Given the description of an element on the screen output the (x, y) to click on. 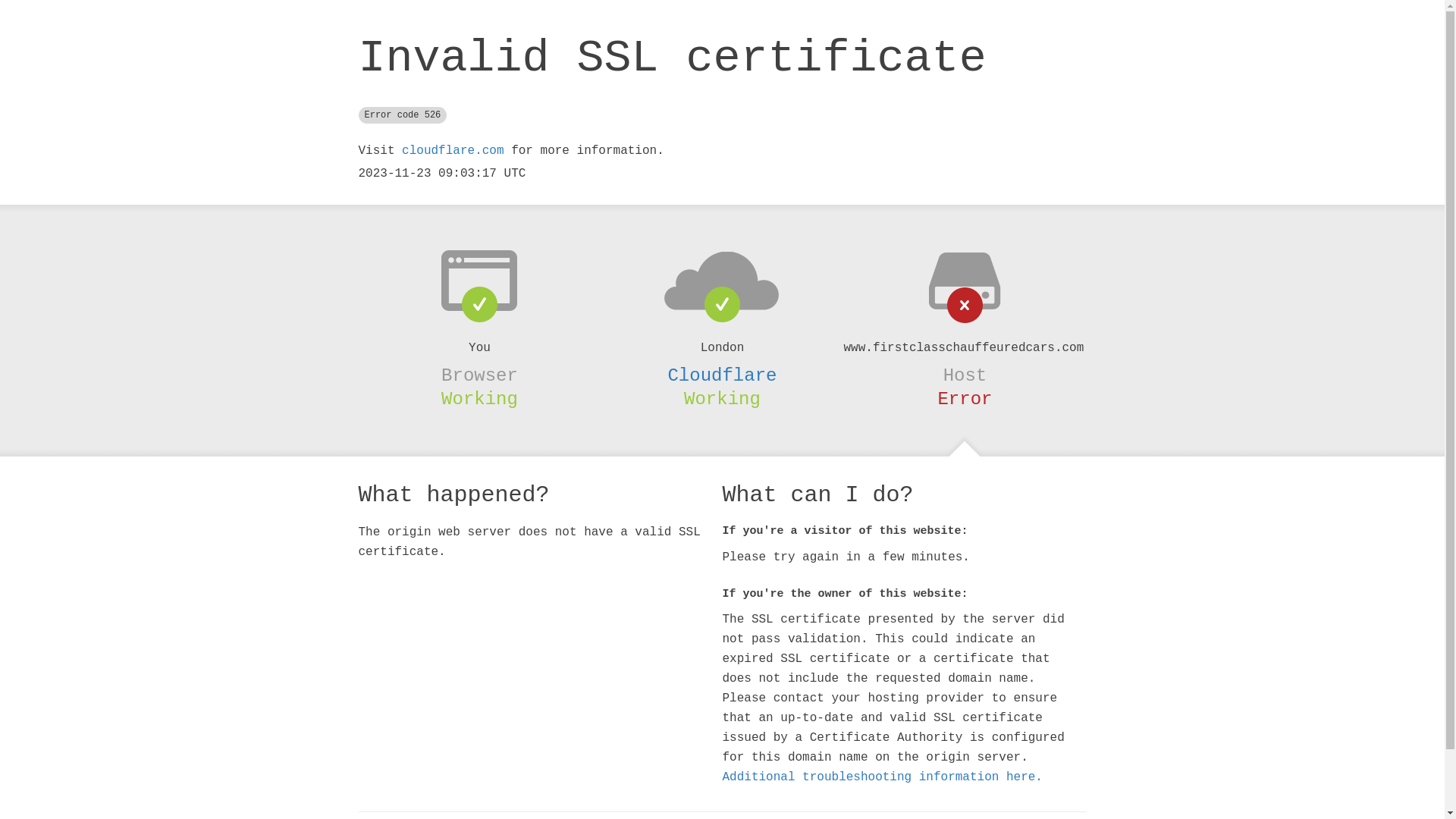
Cloudflare Element type: text (721, 375)
Additional troubleshooting information here. Element type: text (881, 777)
cloudflare.com Element type: text (452, 150)
